Given the description of an element on the screen output the (x, y) to click on. 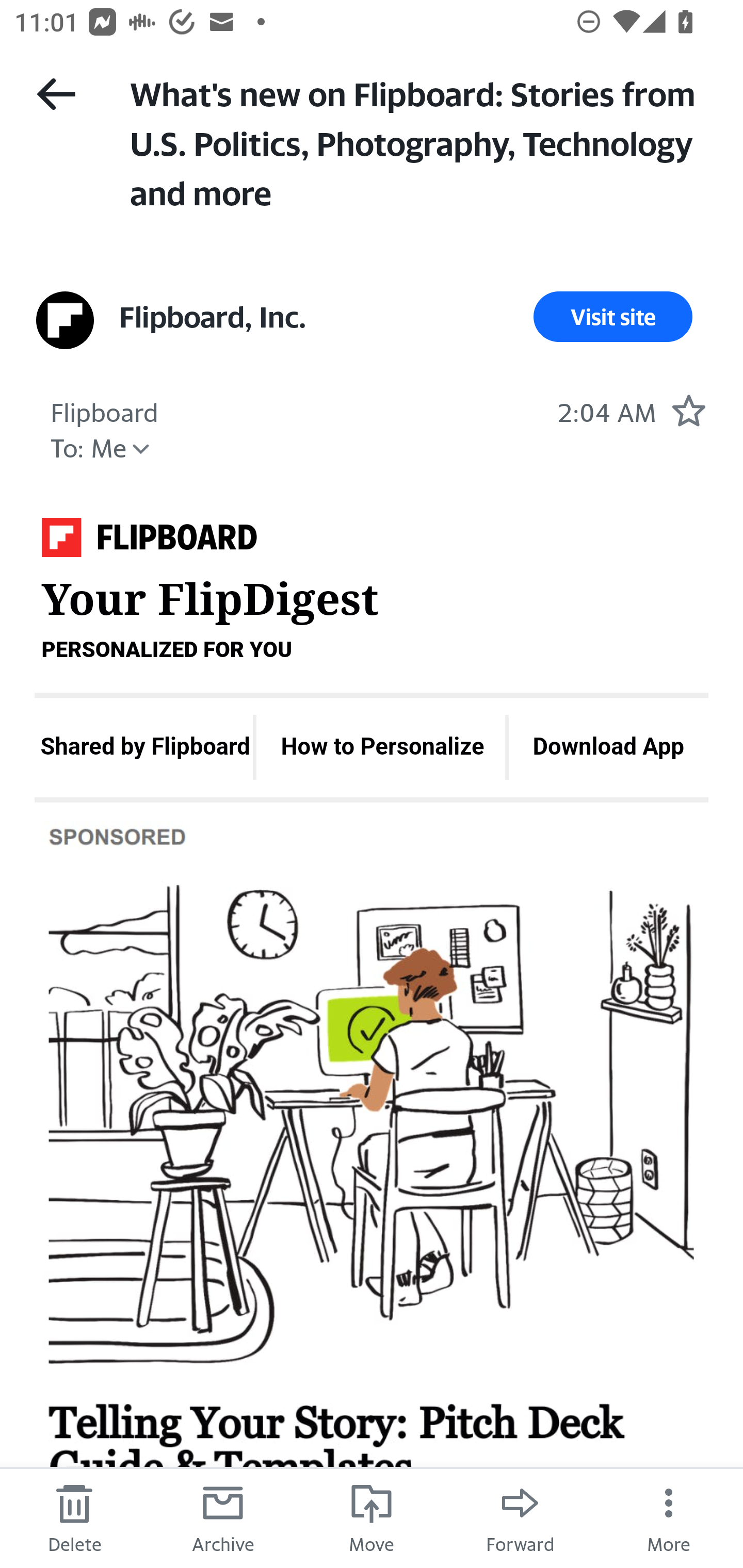
Back (55, 93)
View all messages from sender (64, 320)
Visit site Visit Site Link (612, 316)
Flipboard, Inc. Sender Flipboard, Inc. (212, 316)
Flipboard Sender Flipboard (104, 410)
Mark as starred. (688, 410)
Your FlipDigest (149, 542)
Shared by Flipboard (144, 747)
How to Personalize (381, 747)
Download App (608, 747)
Delete (74, 1517)
Archive (222, 1517)
Move (371, 1517)
Forward (519, 1517)
More (668, 1517)
